Given the description of an element on the screen output the (x, y) to click on. 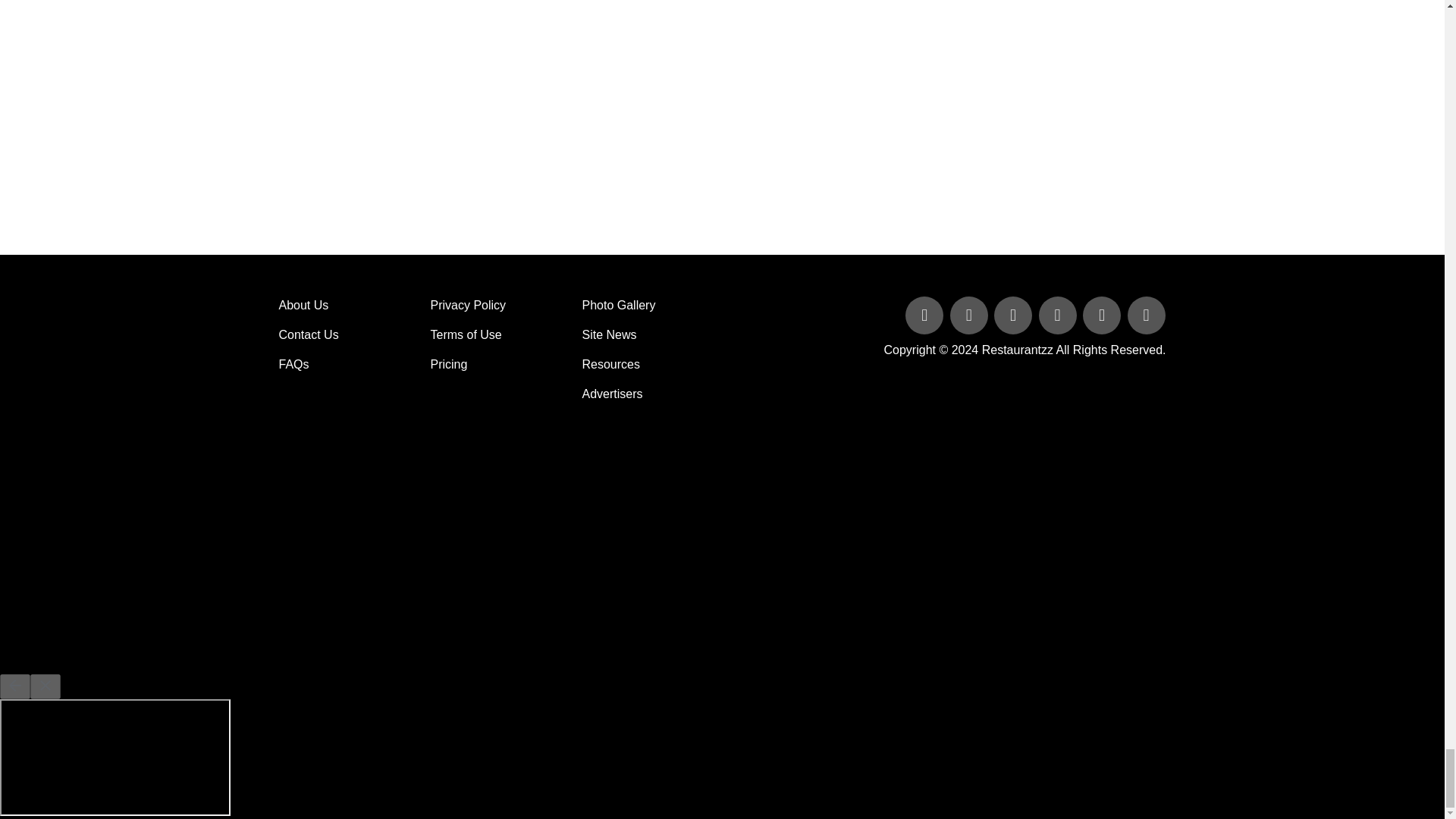
Follow Us on Linked In (1014, 316)
Follow Us on Instagram (1145, 316)
Follow Us on Twitter (970, 316)
Follow Us on You Tube (1058, 316)
Follow Us on Pinterest (1103, 316)
Follow Us on Facebook (925, 316)
